Given the description of an element on the screen output the (x, y) to click on. 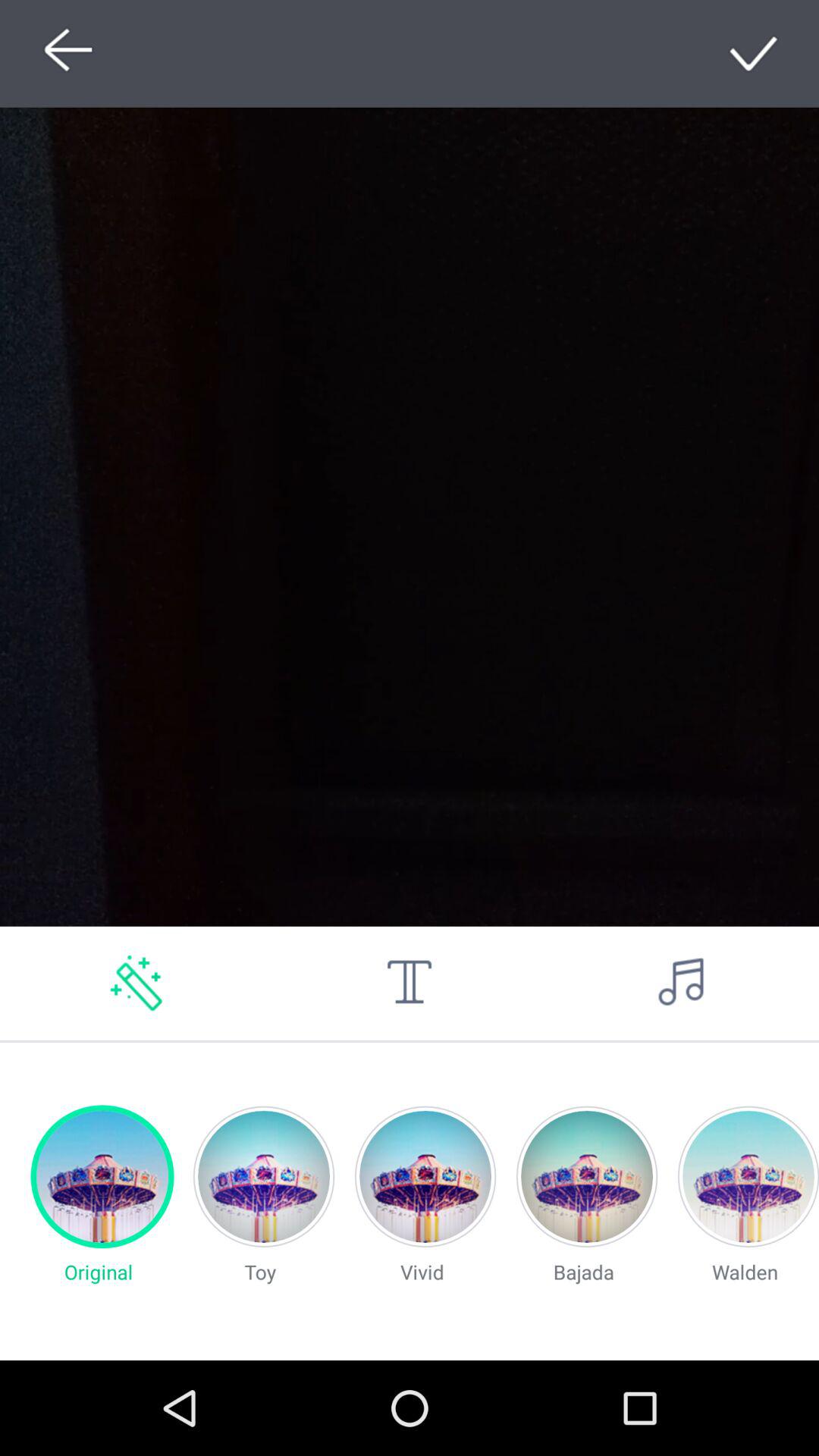
a magic wand icon (136, 983)
